Given the description of an element on the screen output the (x, y) to click on. 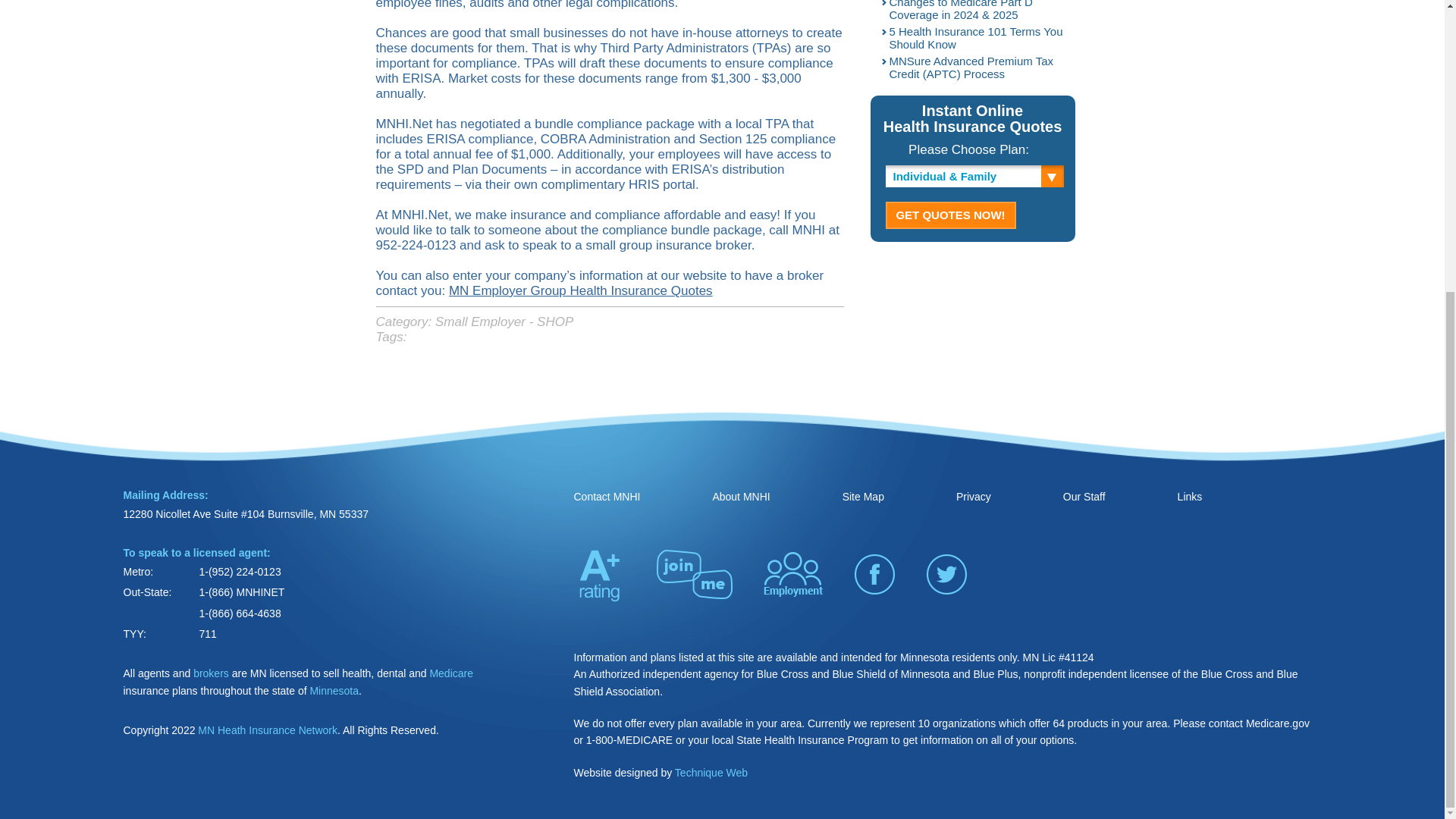
Small Employer - SHOP (504, 321)
MN Employer Group Health Insurance Quotes (580, 290)
MN Employer Group Health Insurance Quotes (580, 290)
Small Employer - SHOP (504, 321)
GET QUOTES NOW! (950, 215)
